Given the description of an element on the screen output the (x, y) to click on. 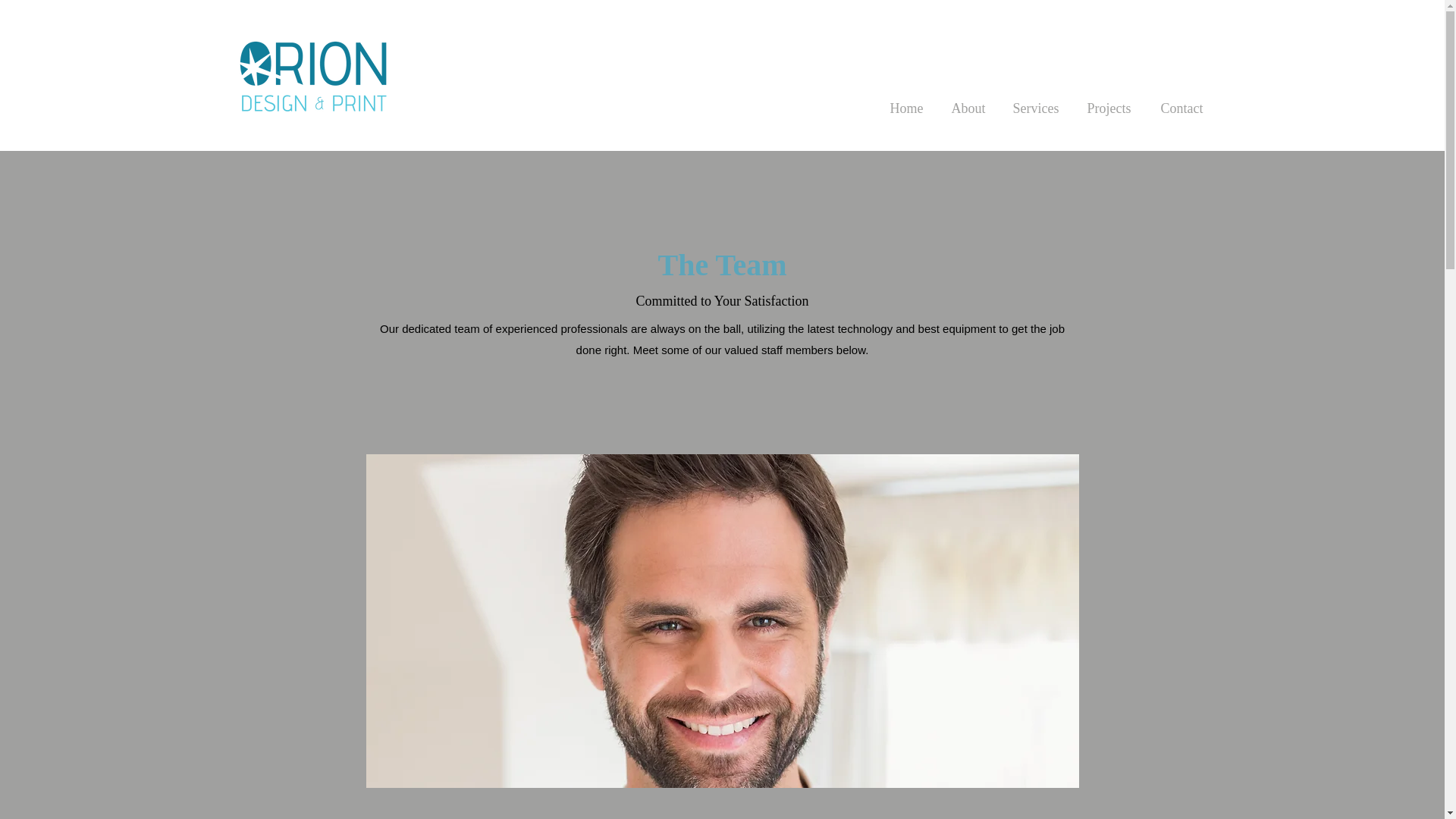
Services (1034, 101)
Projects (1107, 101)
About (967, 101)
Home (906, 101)
Contact (1180, 101)
